Given the description of an element on the screen output the (x, y) to click on. 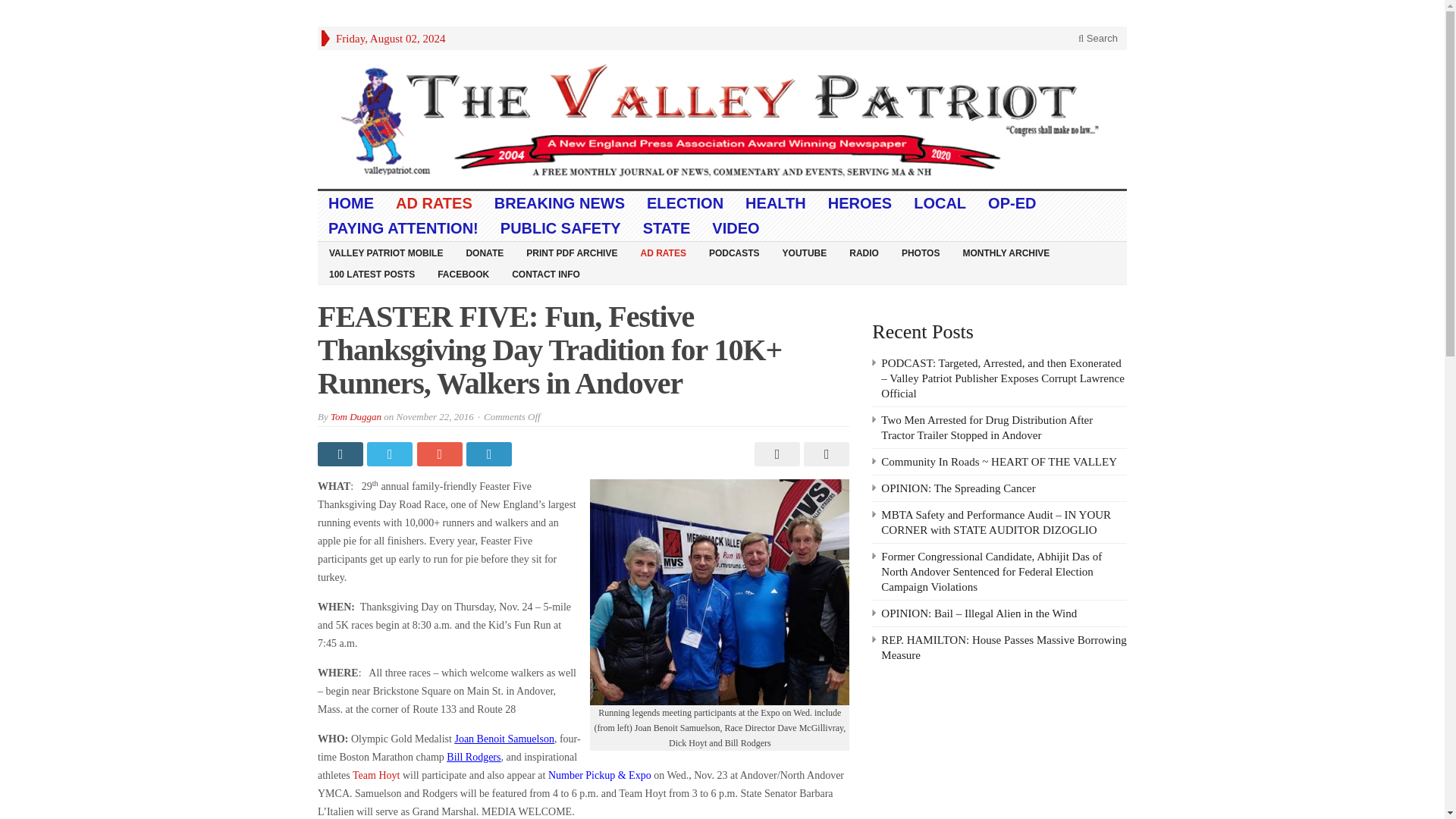
PAYING ATTENTION! (403, 228)
STATE (666, 228)
MONTHLY ARCHIVE (1005, 251)
Search (1097, 37)
HEALTH (775, 203)
100 LATEST POSTS (371, 273)
LOCAL (939, 203)
A New England Press Association Award Winning News Paper (721, 119)
HOME (351, 203)
PUBLIC SAFETY (560, 228)
AD RATES (662, 251)
PODCASTS (734, 251)
DONATE (484, 251)
PHOTOS (919, 251)
PRINT PDF ARCHIVE (571, 251)
